Given the description of an element on the screen output the (x, y) to click on. 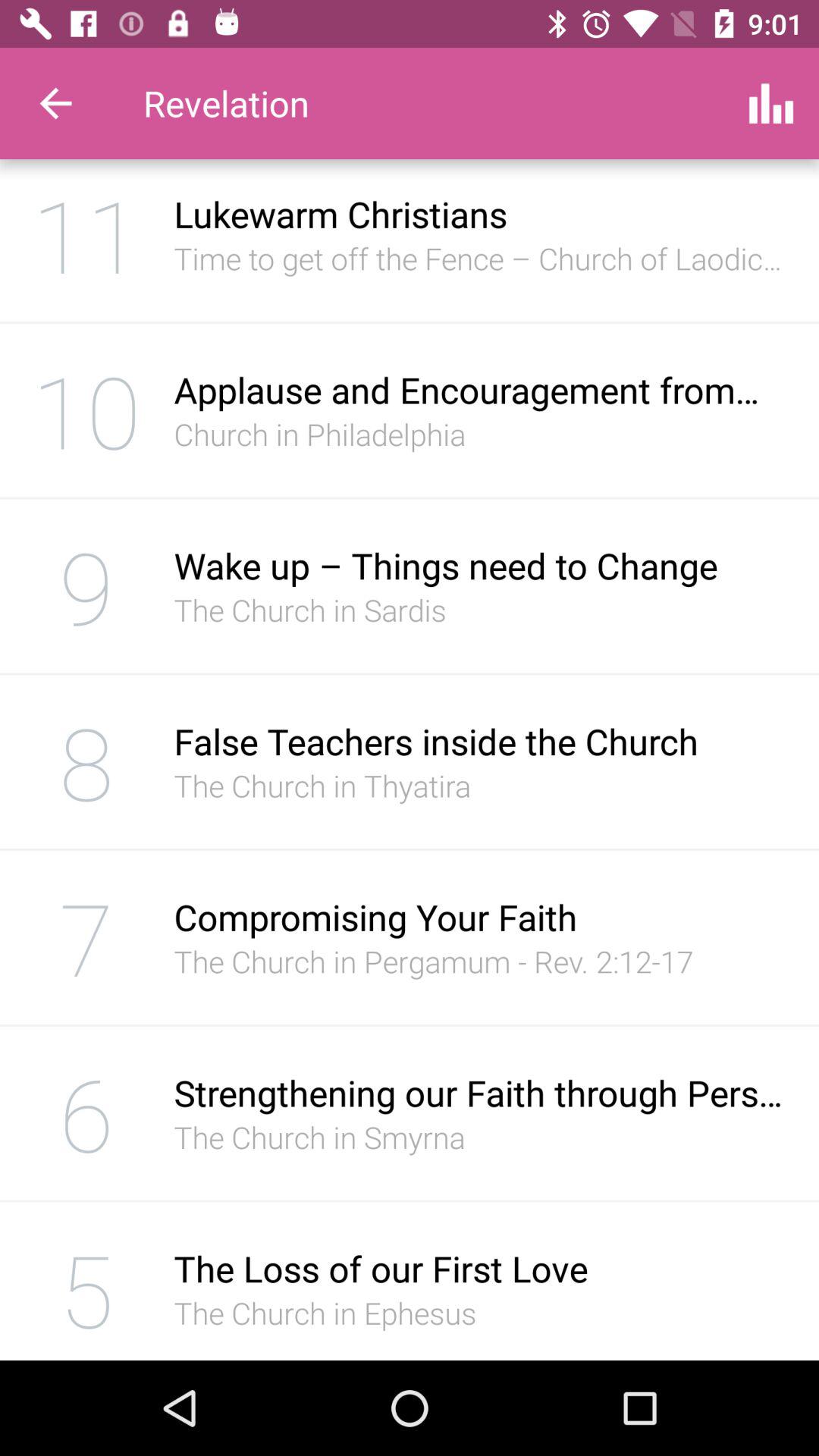
turn on the lukewarm christians icon (480, 213)
